Given the description of an element on the screen output the (x, y) to click on. 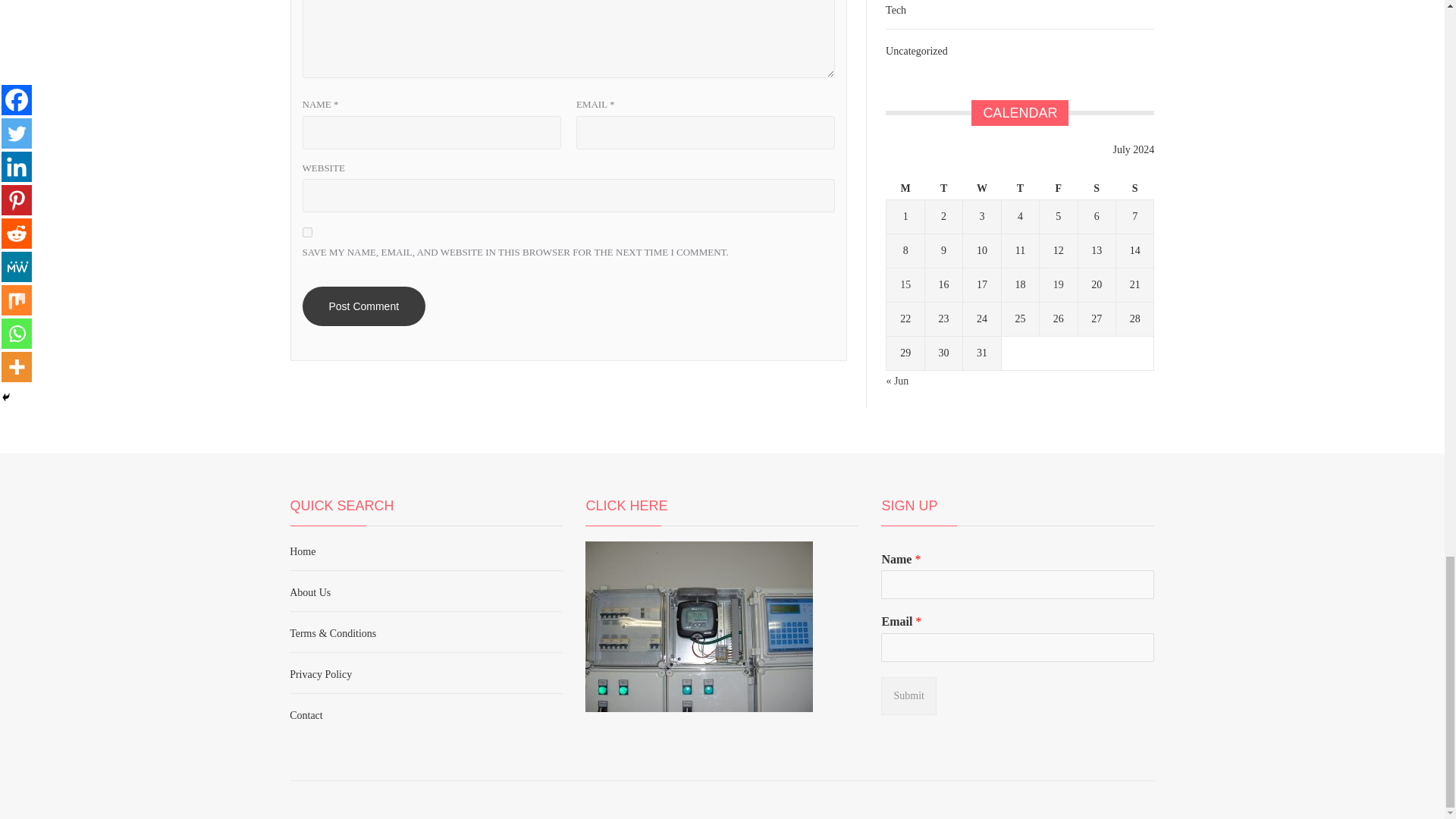
yes (306, 232)
Post Comment (363, 305)
